Given the description of an element on the screen output the (x, y) to click on. 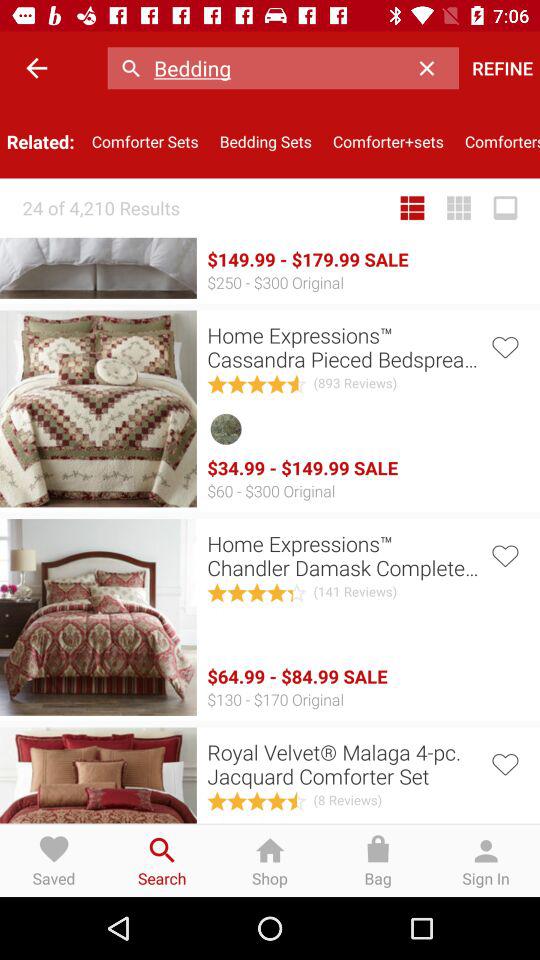
save or favorite (504, 762)
